Given the description of an element on the screen output the (x, y) to click on. 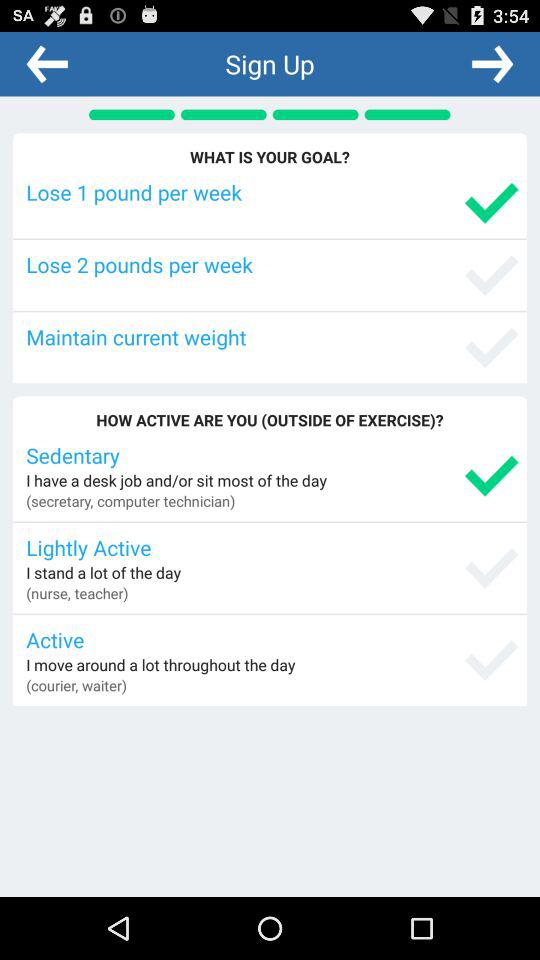
turn off the lightly active app (272, 547)
